Given the description of an element on the screen output the (x, y) to click on. 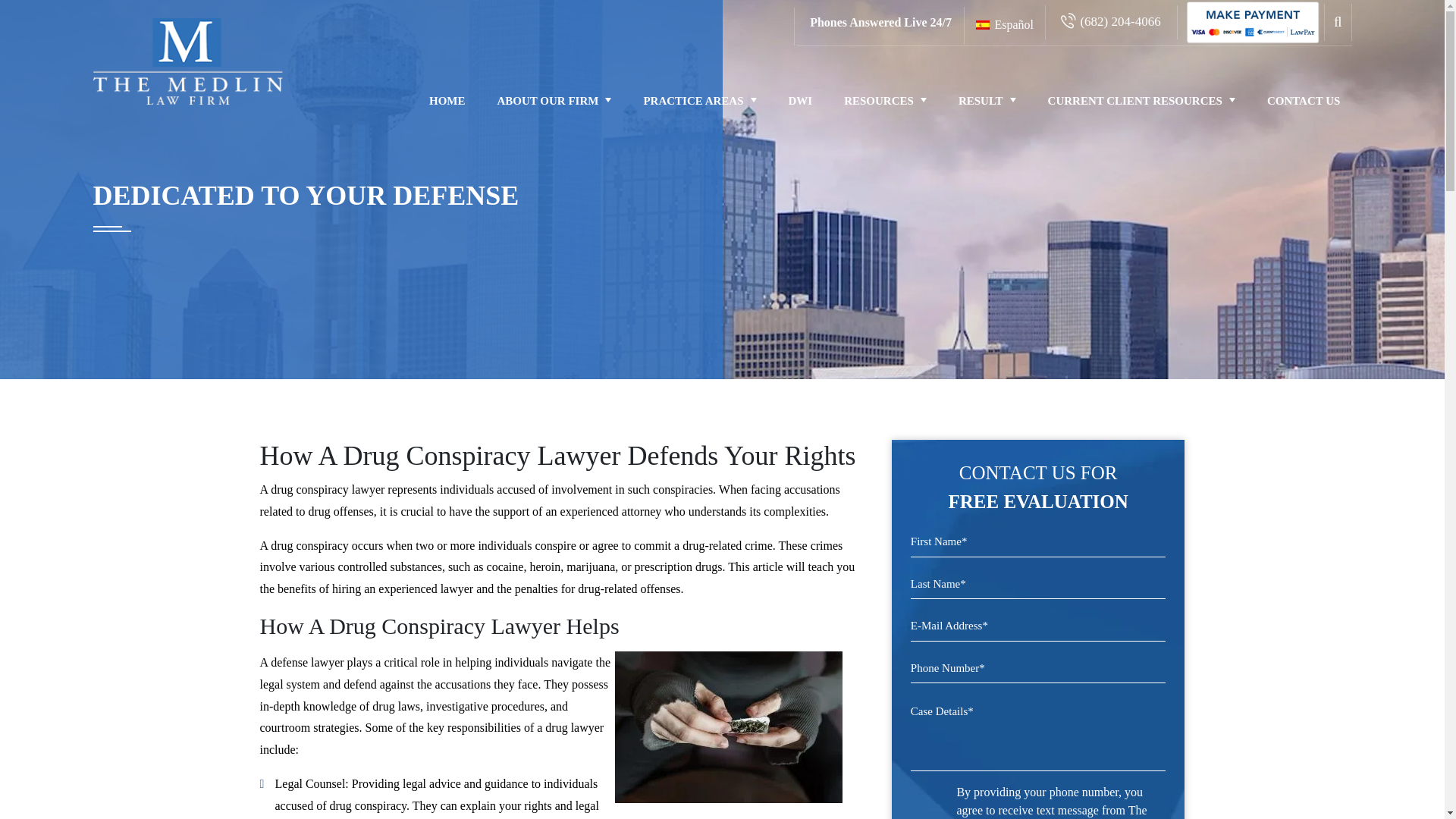
HOME (447, 100)
ABOUT OUR FIRM (554, 100)
PRACTICE AREAS (699, 100)
